Given the description of an element on the screen output the (x, y) to click on. 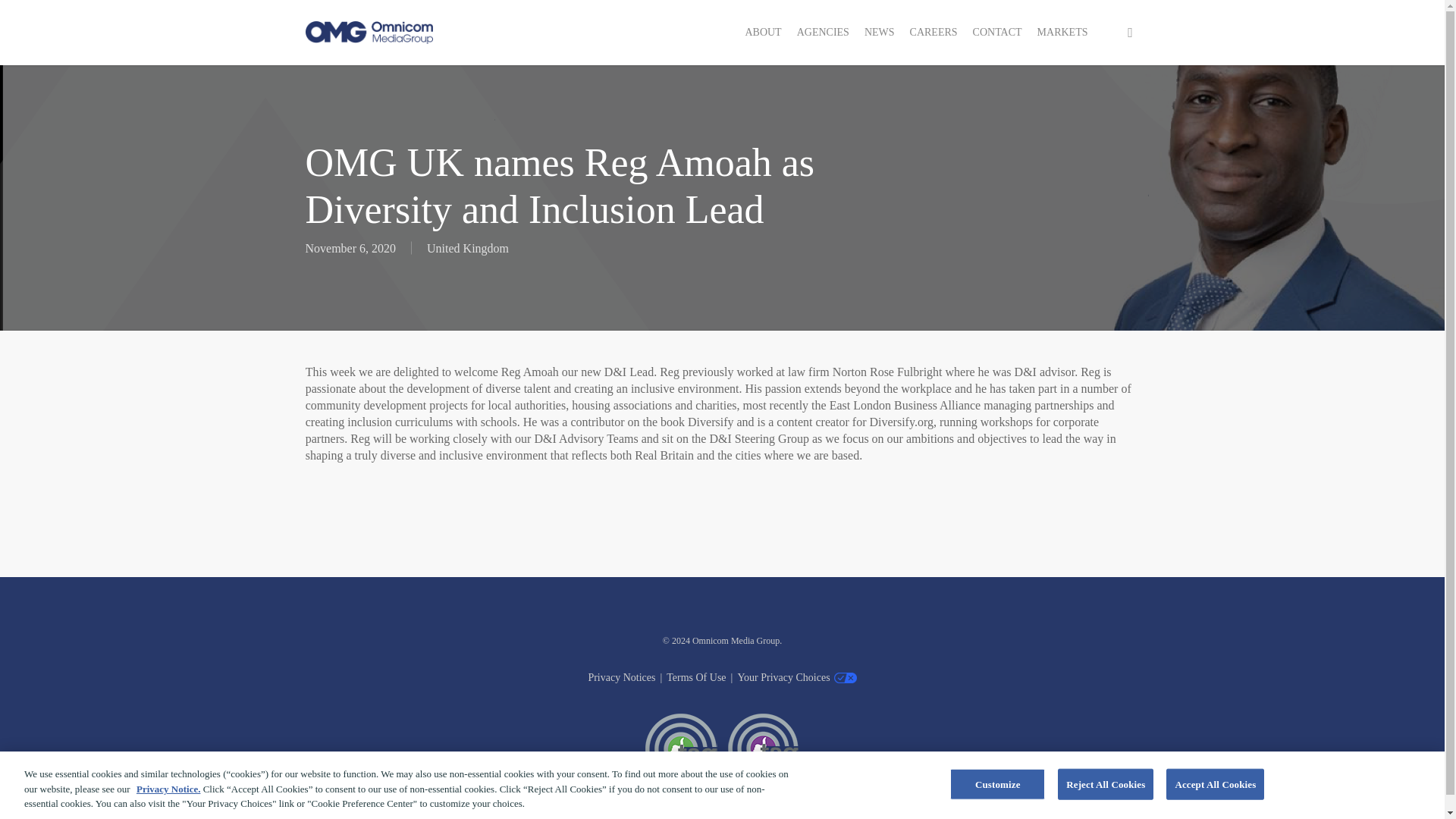
United Kingdom (467, 246)
AGENCIES (823, 32)
CONTACT (997, 32)
NEWS (879, 32)
Terms Of Use (695, 677)
Your Privacy Choices (782, 677)
search (1129, 32)
MARKETS (1062, 32)
ABOUT (762, 32)
Privacy Notices (621, 677)
CAREERS (933, 32)
